Given the description of an element on the screen output the (x, y) to click on. 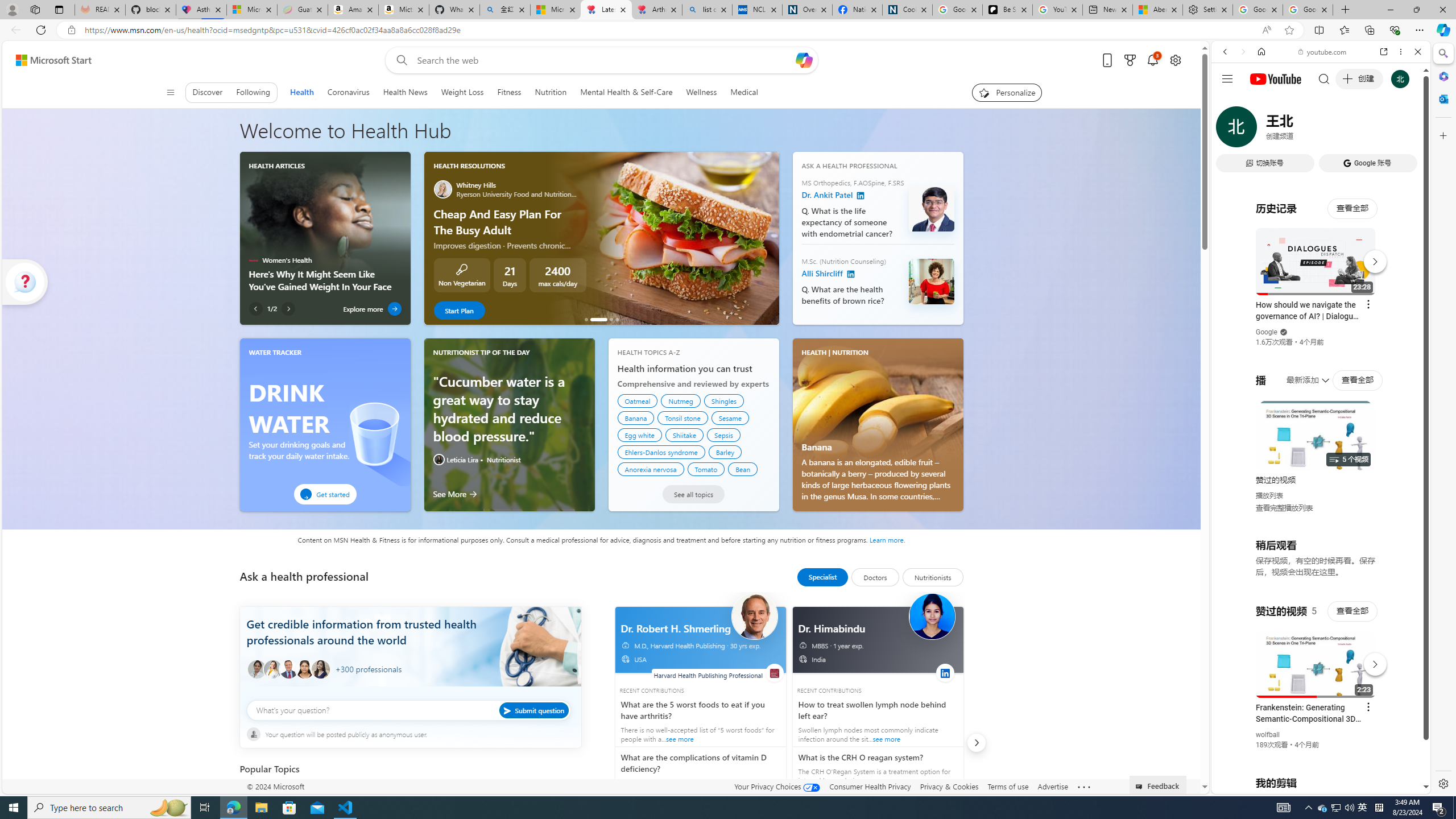
Search the web (1326, 78)
Class: vecIn (804, 661)
Sesame (729, 418)
Previous Slide (432, 237)
Weight Loss (461, 92)
Next Slide (769, 237)
list of asthma inhalers uk - Search (706, 9)
Show More Music (1390, 310)
WEB   (1230, 130)
Nutmeg (680, 400)
